Given the description of an element on the screen output the (x, y) to click on. 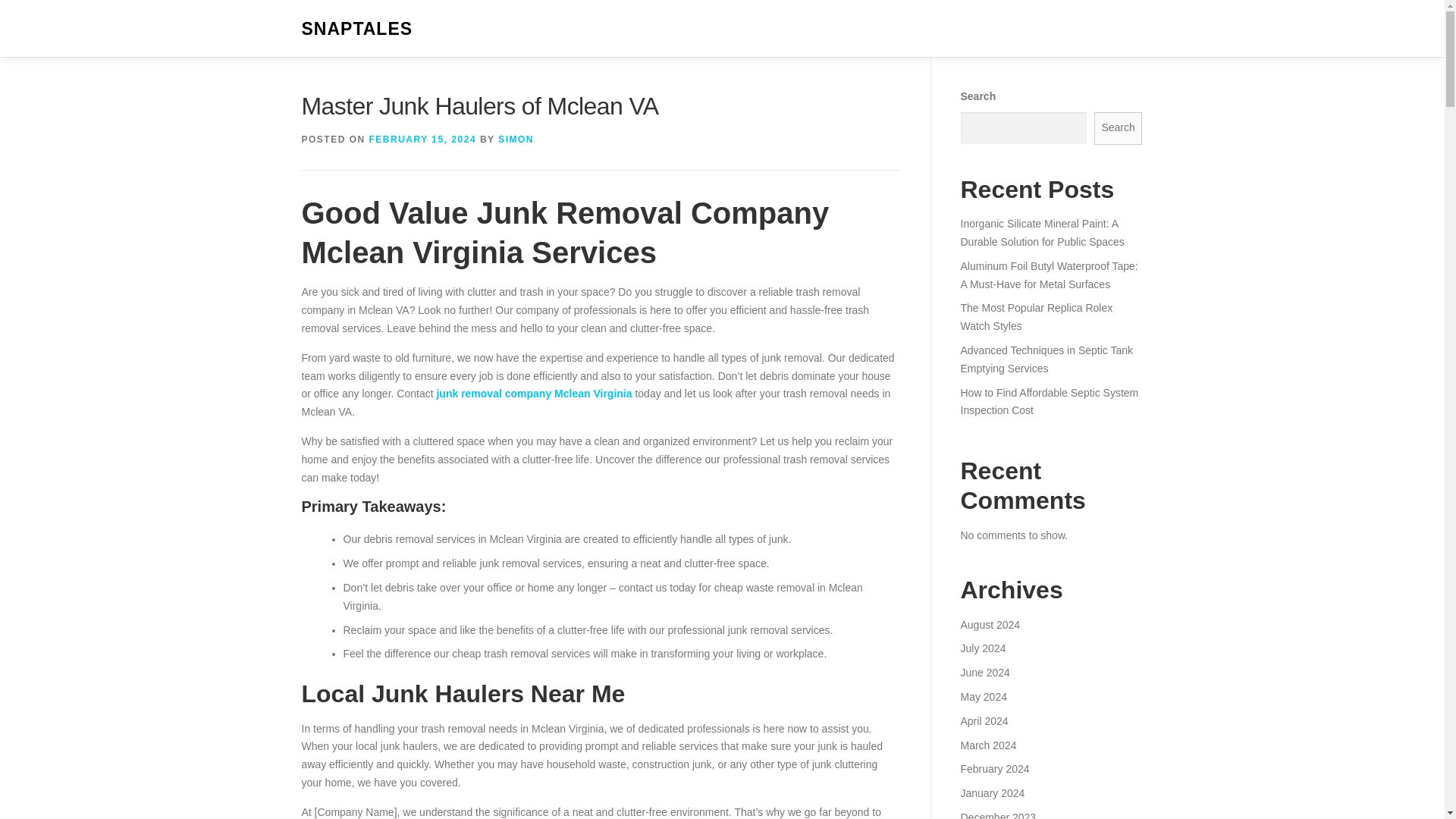
How to Find Affordable Septic System Inspection Cost (1048, 401)
Advanced Techniques in Septic Tank Emptying Services (1045, 358)
March 2024 (987, 744)
June 2024 (984, 672)
SNAPTALES (357, 29)
FEBRUARY 15, 2024 (423, 139)
SIMON (515, 139)
December 2023 (997, 815)
The Most Popular Replica Rolex Watch Styles (1035, 317)
